Given the description of an element on the screen output the (x, y) to click on. 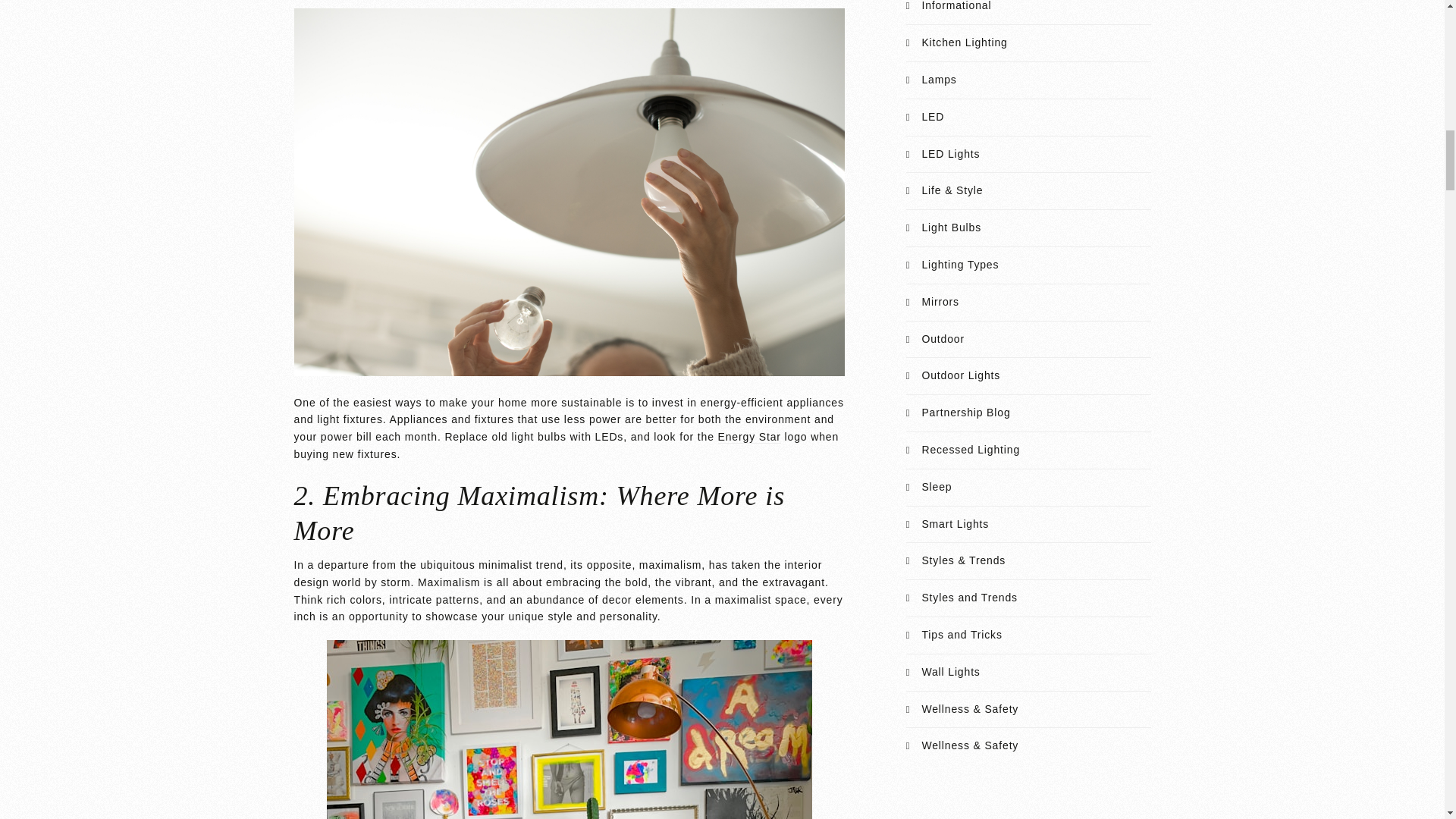
Energy Star (748, 436)
